Given the description of an element on the screen output the (x, y) to click on. 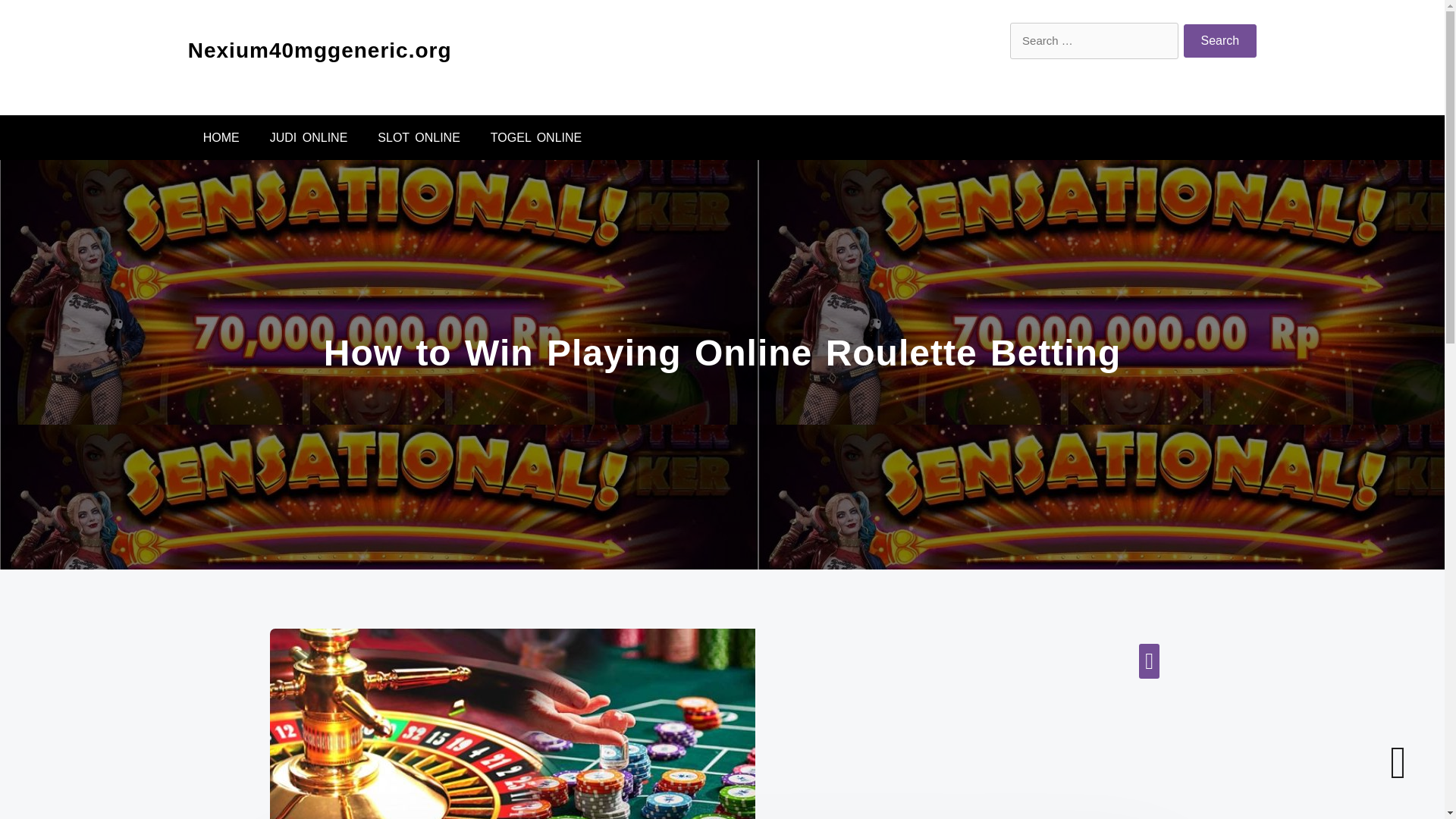
Search (1220, 40)
Search (1220, 40)
SLOT ONLINE (419, 137)
TOGEL ONLINE (536, 137)
Search (1220, 40)
HOME (220, 137)
Nexium40mggeneric.org (319, 50)
JUDI ONLINE (308, 137)
